Given the description of an element on the screen output the (x, y) to click on. 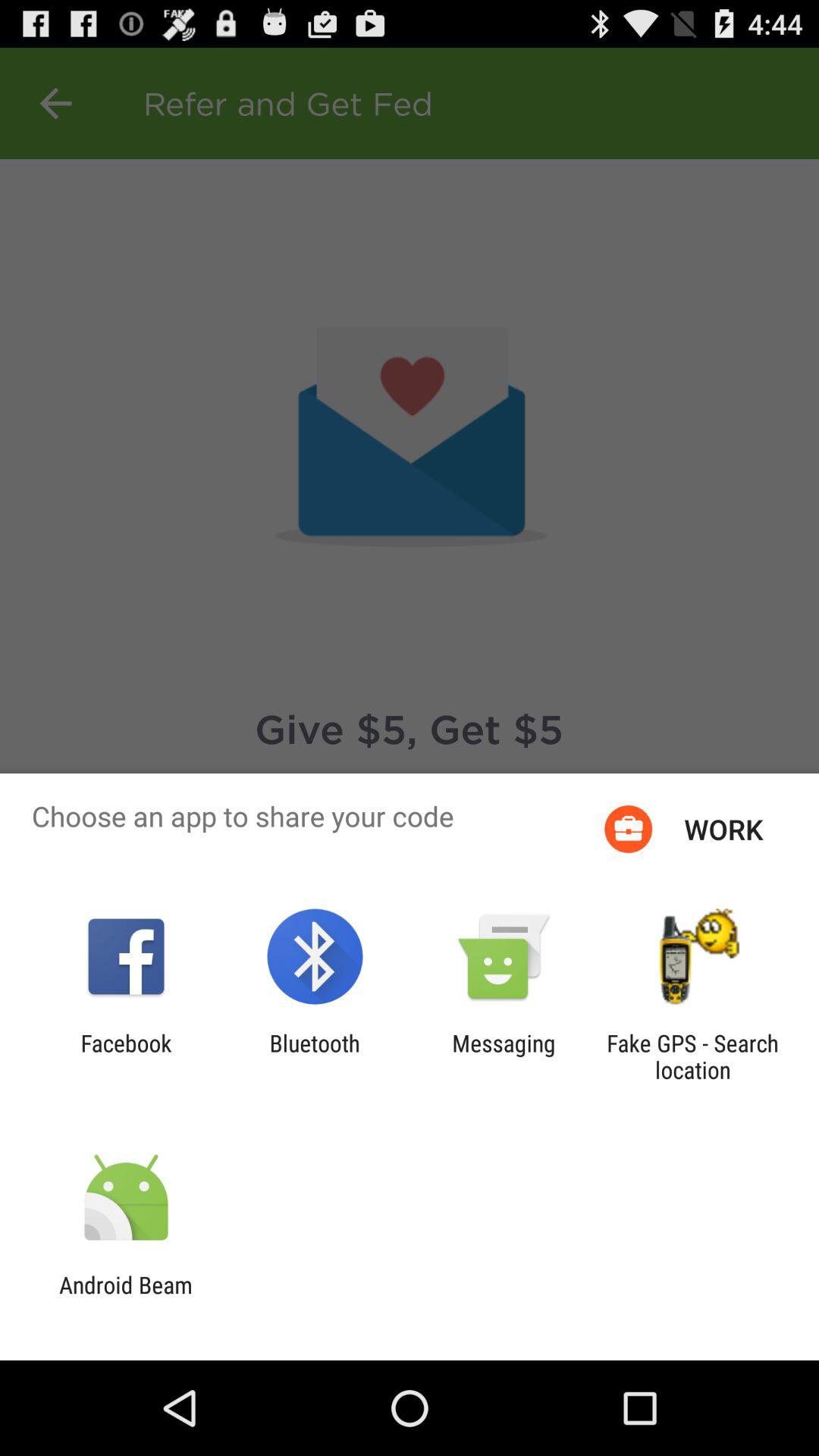
jump until bluetooth item (314, 1056)
